Given the description of an element on the screen output the (x, y) to click on. 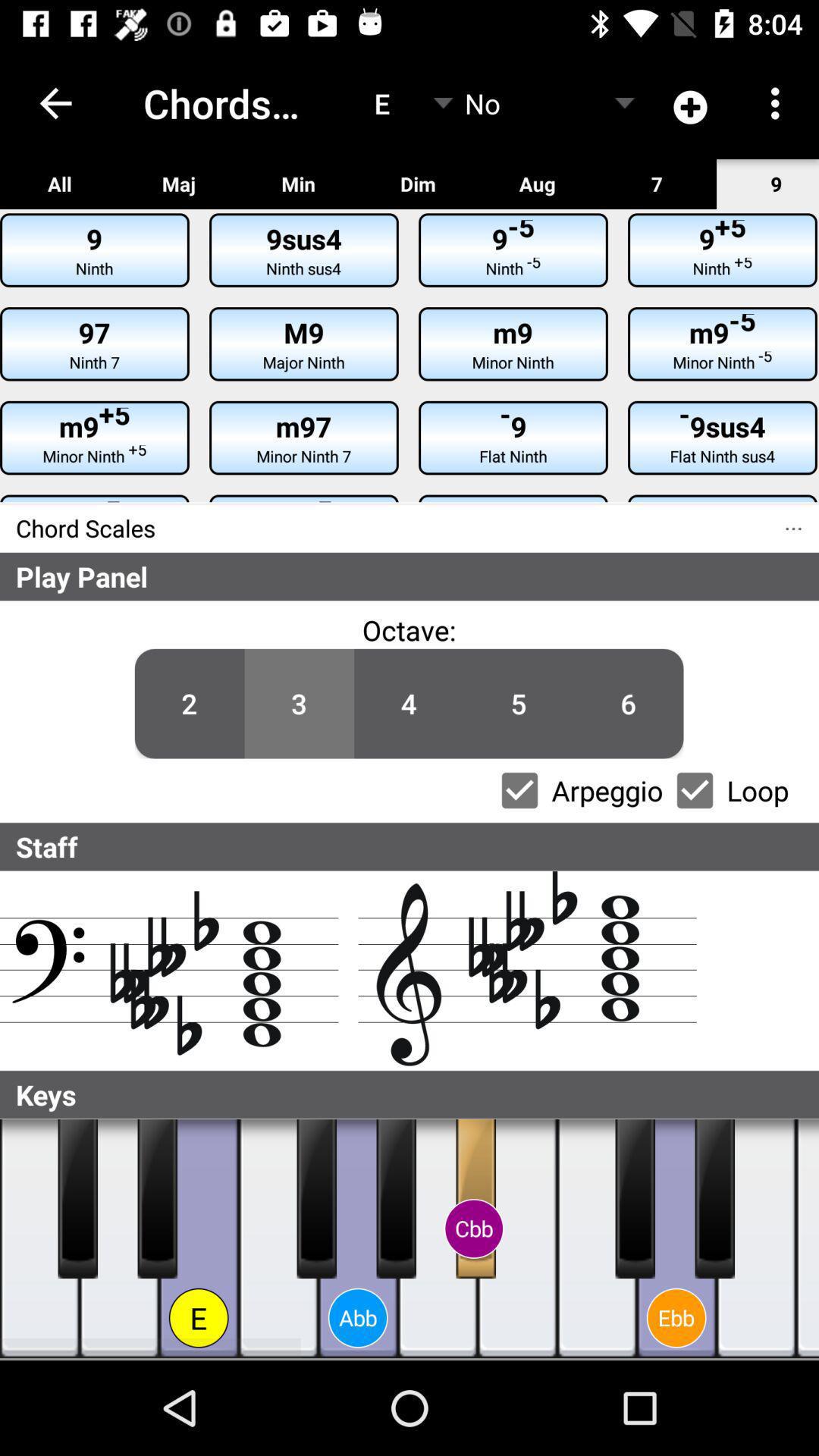
e piano key (198, 1238)
